Given the description of an element on the screen output the (x, y) to click on. 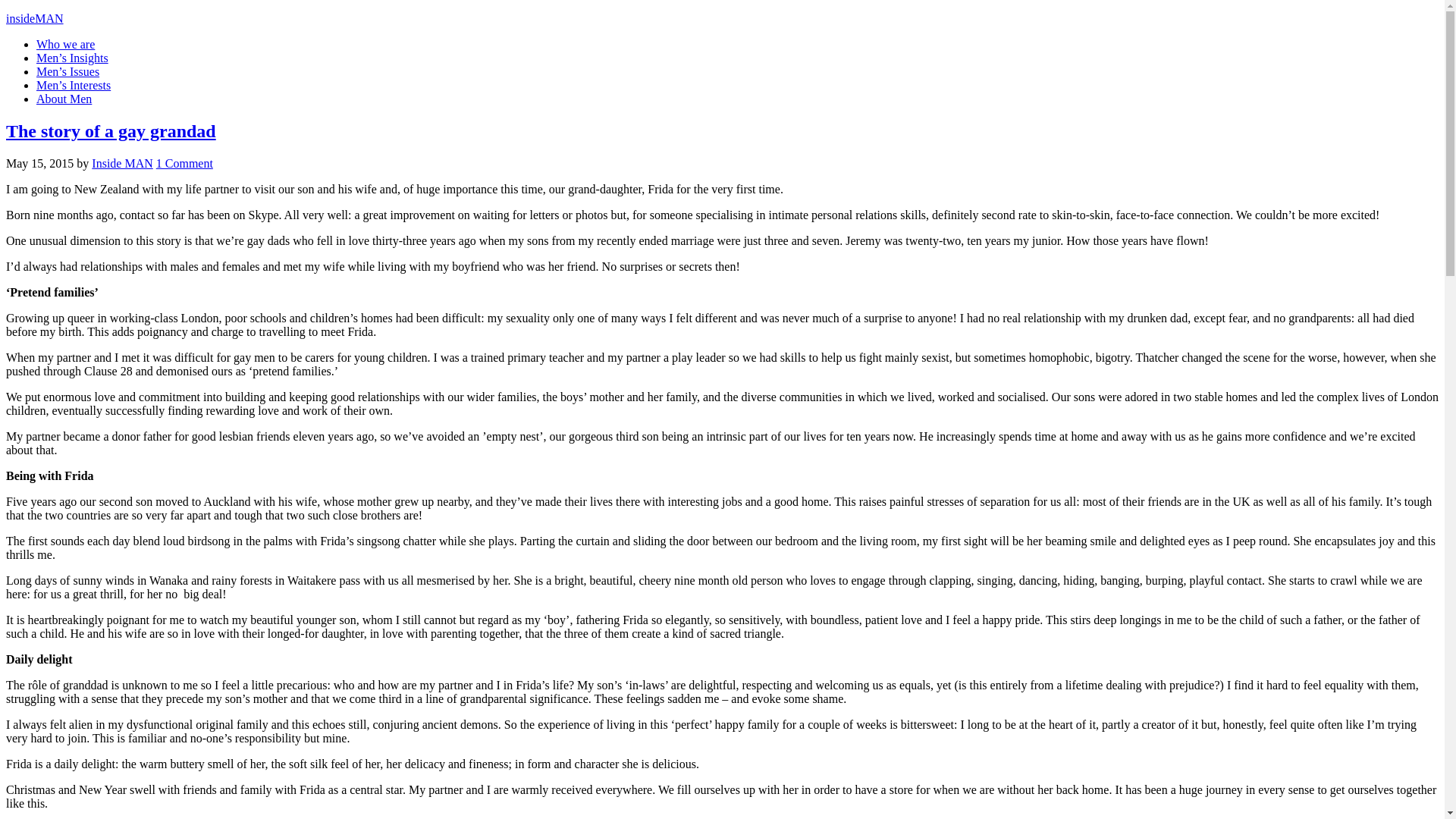
The story of a gay grandad (110, 130)
About Men (63, 98)
insideMAN (34, 18)
Inside MAN (121, 163)
Who we are (65, 43)
1 Comment (183, 163)
